Given the description of an element on the screen output the (x, y) to click on. 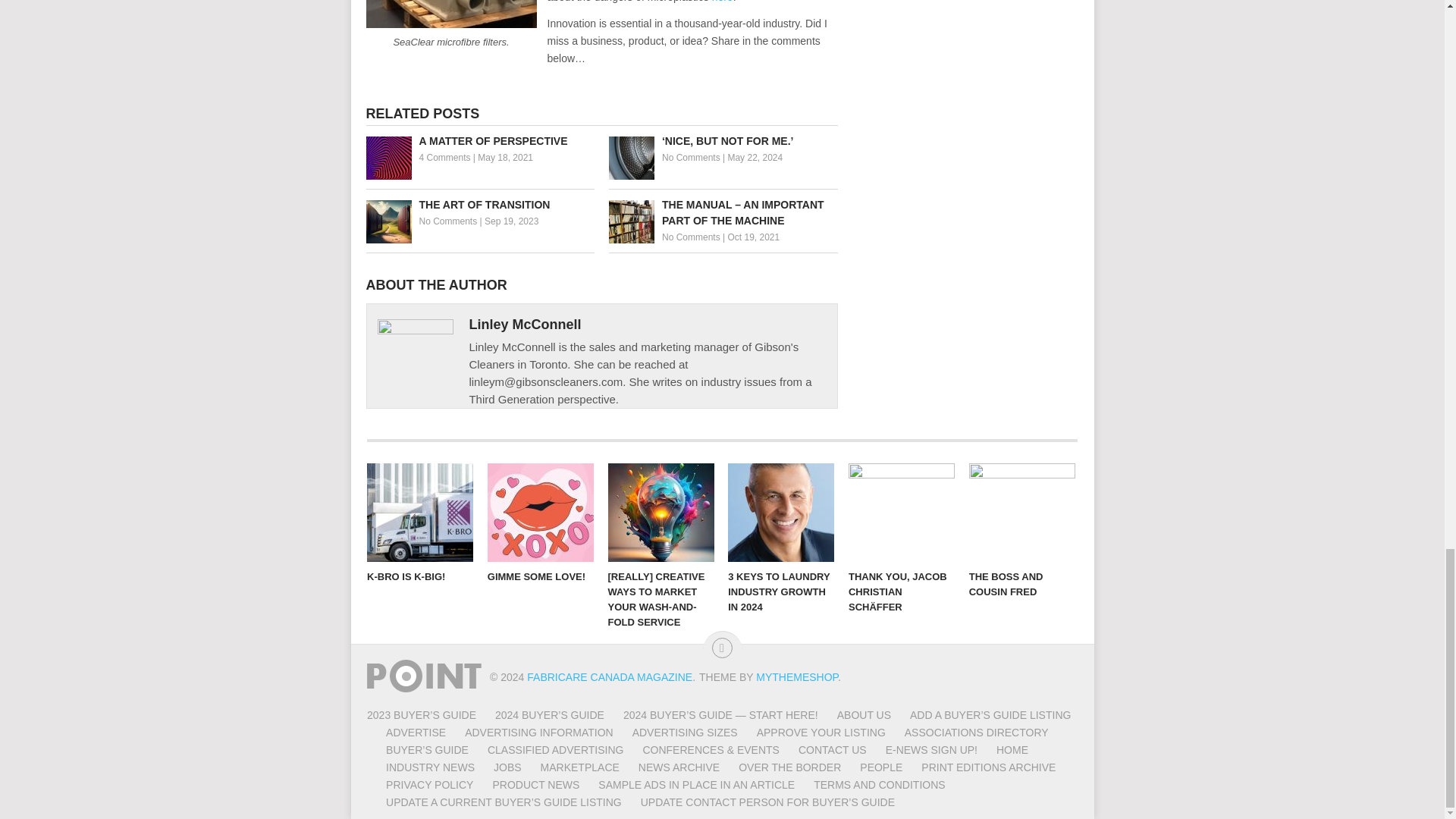
A matter of Perspective (479, 141)
The Art of Transition (479, 204)
K-Bro is K-BIG! (419, 512)
